Given the description of an element on the screen output the (x, y) to click on. 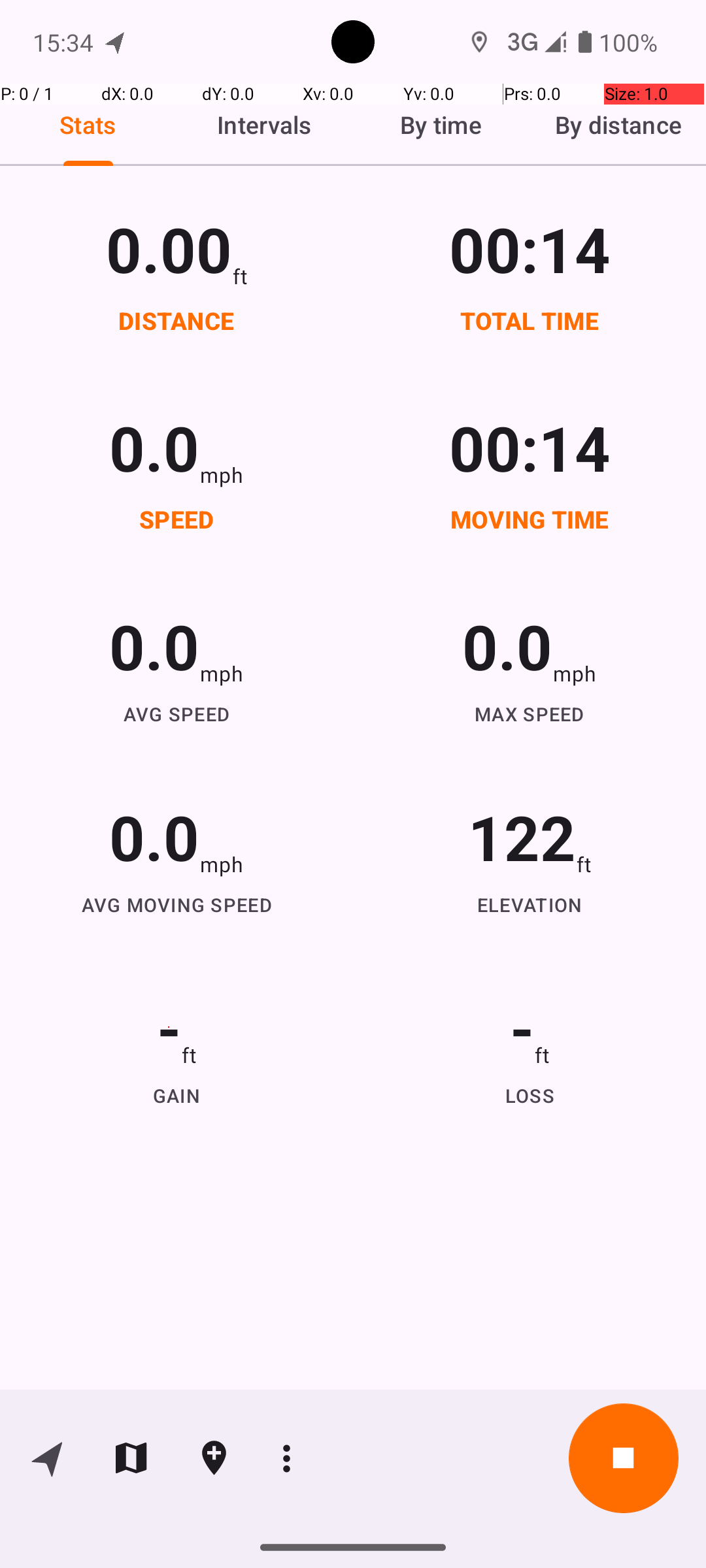
Insert marker Element type: android.widget.Button (213, 1458)
Stop Element type: android.widget.ImageButton (623, 1458)
0.00 Element type: android.widget.TextView (168, 248)
00:15 Element type: android.widget.TextView (529, 248)
0.0 Element type: android.widget.TextView (154, 446)
00:14 Element type: android.widget.TextView (529, 446)
122 Element type: android.widget.TextView (521, 836)
- Element type: android.widget.TextView (168, 1026)
